Given the description of an element on the screen output the (x, y) to click on. 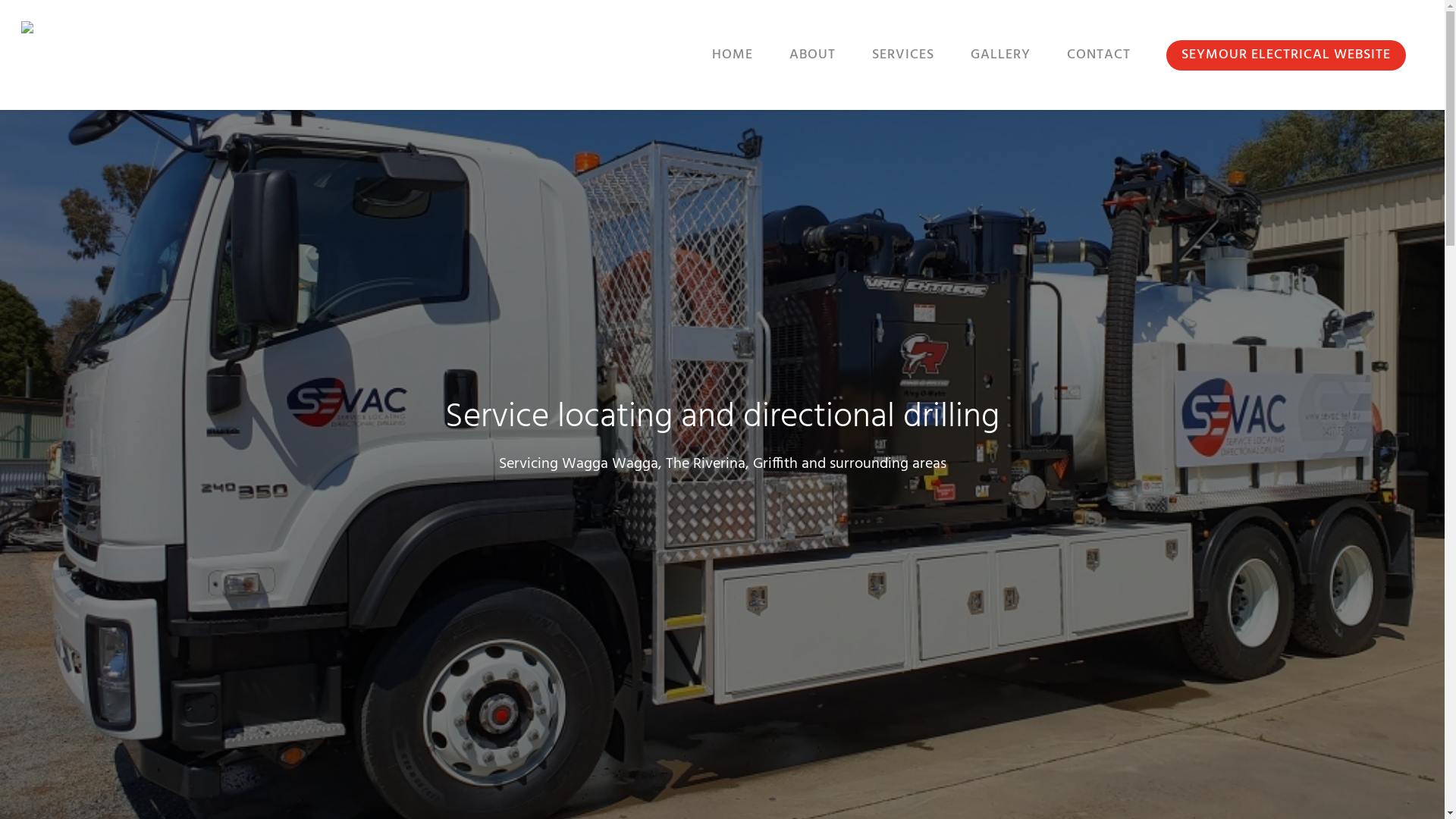
HOME Element type: text (732, 65)
GALLERY Element type: text (1000, 65)
SERVICES Element type: text (902, 65)
ABOUT Element type: text (812, 65)
CONTACT Element type: text (1098, 65)
SEYMOUR ELECTRICAL WEBSITE Element type: text (1285, 65)
